Given the description of an element on the screen output the (x, y) to click on. 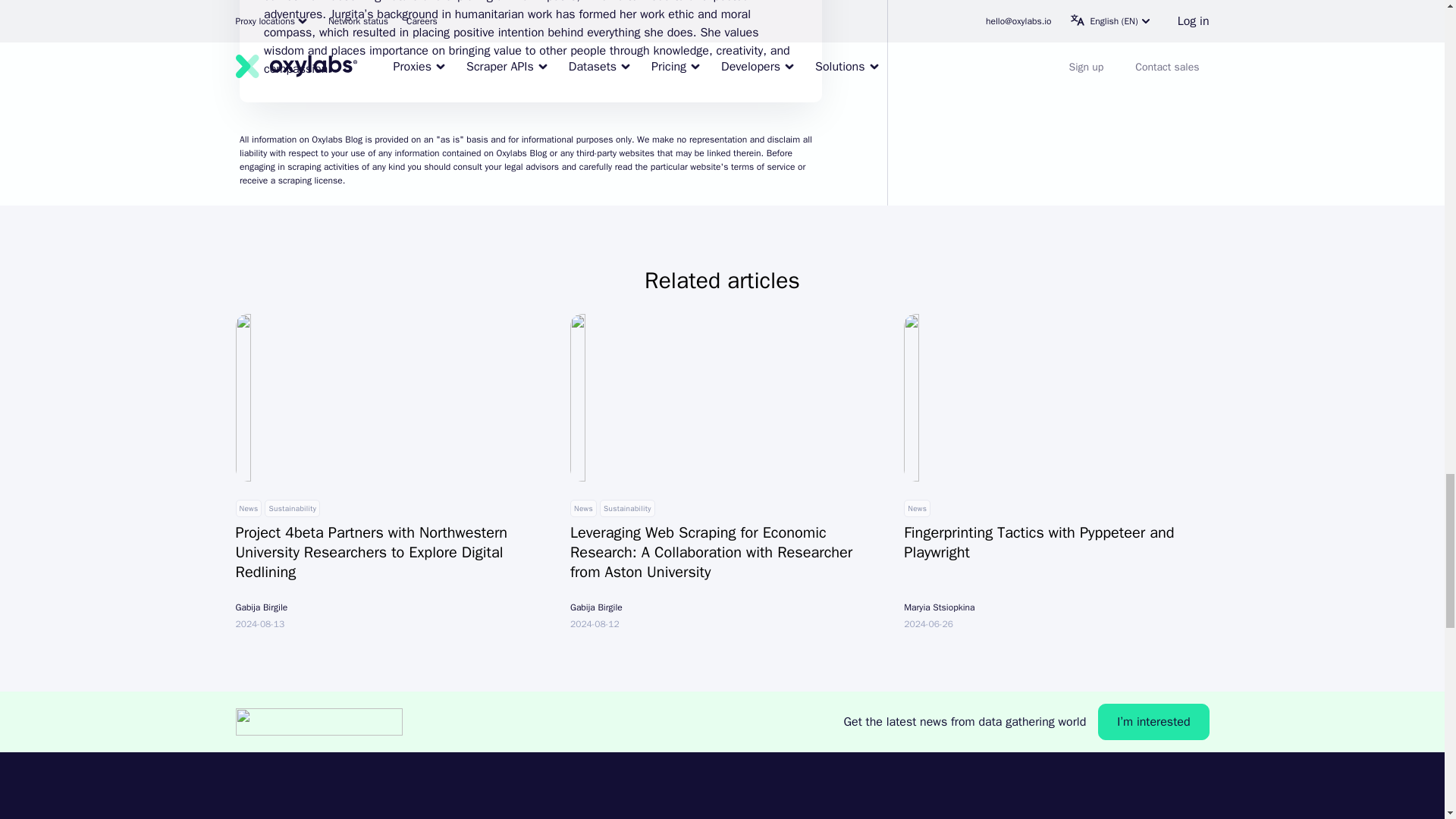
Sustainability (292, 507)
Fingerprinting Tactics with Pyppeteer and Playwright (1056, 545)
News (917, 507)
News (248, 507)
Sustainability (627, 507)
News (583, 507)
